Given the description of an element on the screen output the (x, y) to click on. 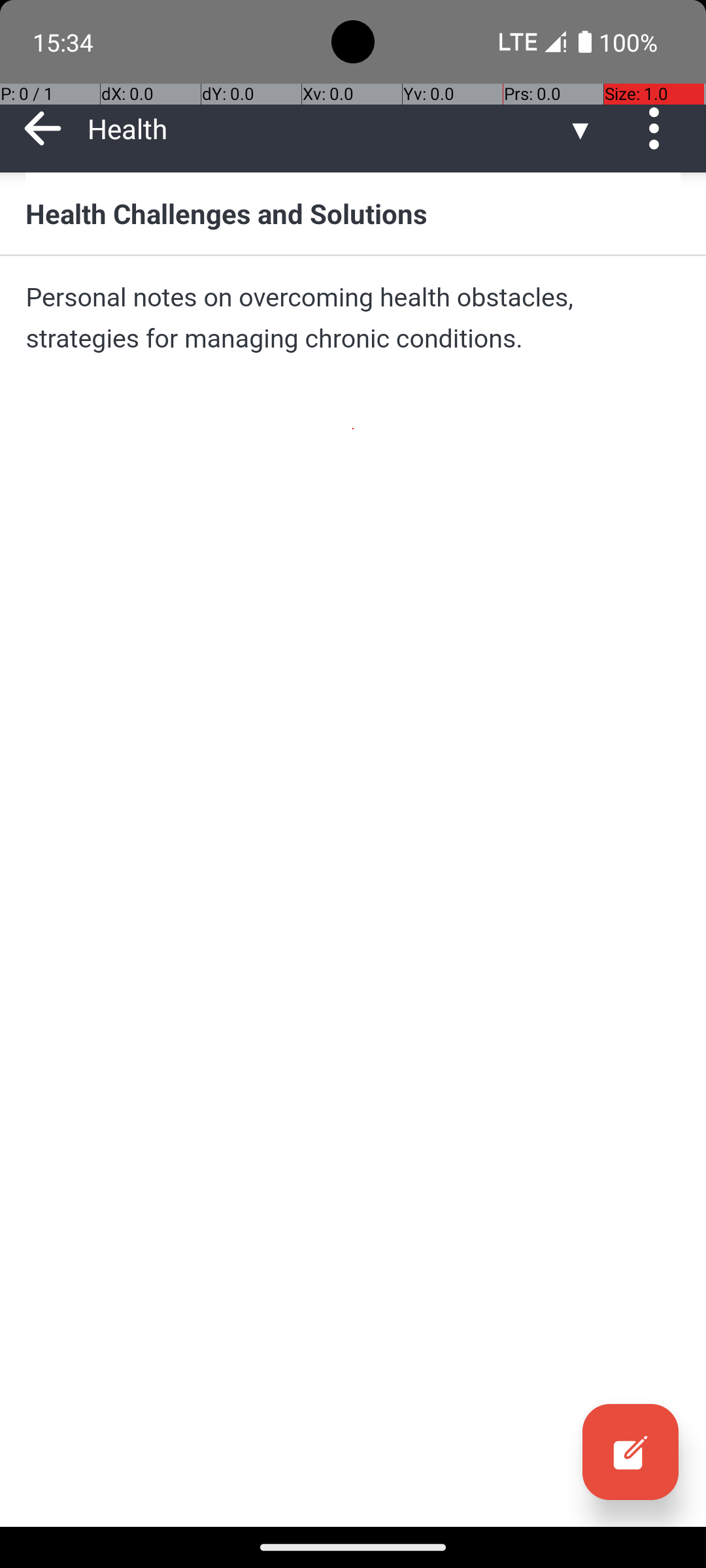
Health Challenges and Solutions Element type: android.widget.EditText (352, 213)
Personal notes on overcoming health obstacles, strategies for managing chronic conditions. Element type: android.widget.TextView (352, 317)
